Given the description of an element on the screen output the (x, y) to click on. 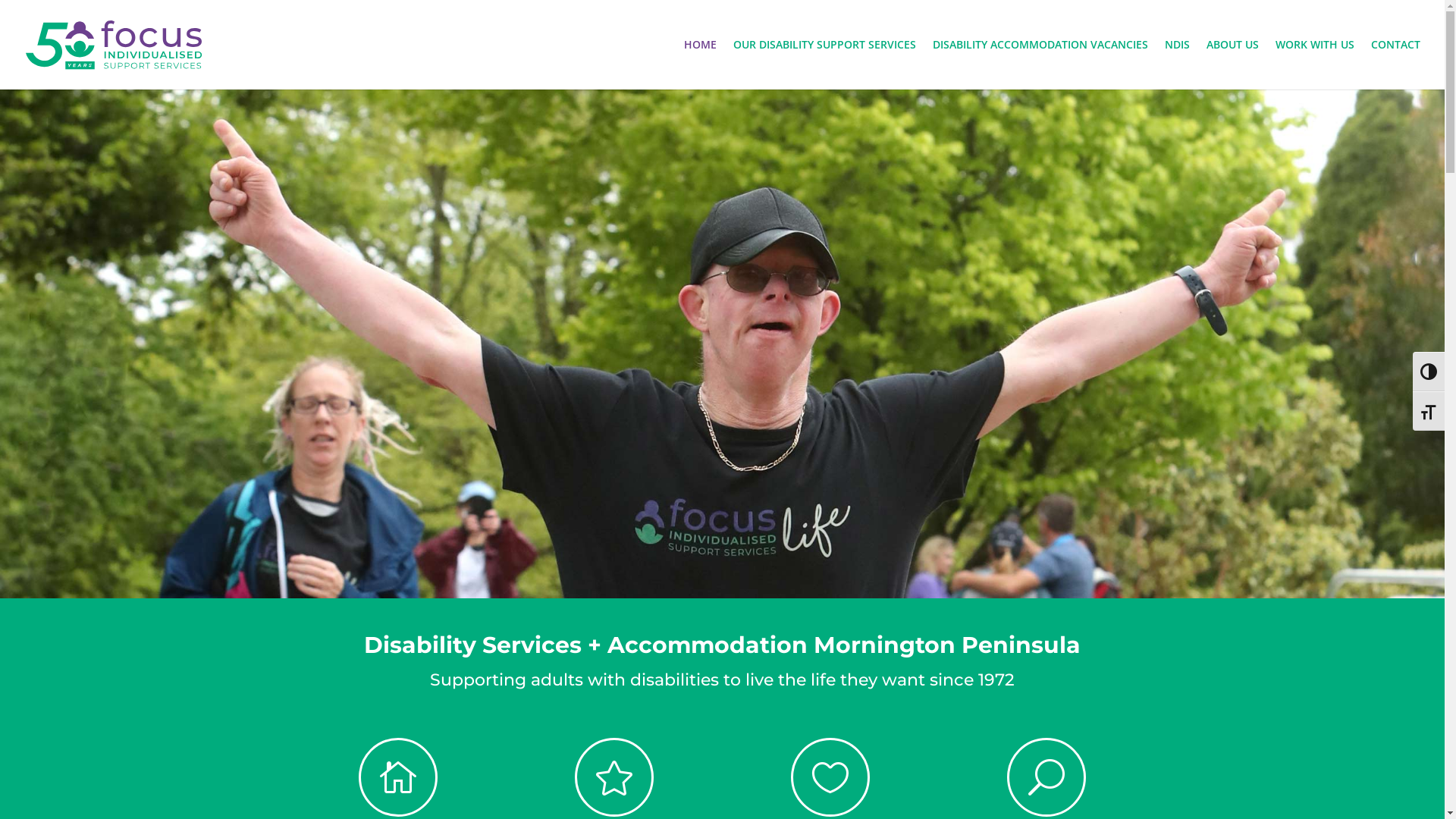
Toggle Font size Element type: text (1428, 410)
Home-page-Marcus-SArthurs-Seat-Challenge2 Element type: hover (722, 343)
U Element type: text (1046, 776)
HOME Element type: text (700, 64)
NDIS Element type: text (1176, 64)
DISABILITY ACCOMMODATION VACANCIES Element type: text (1040, 64)
Toggle High Contrast Element type: text (1428, 371)
CONTACT Element type: text (1395, 64)
OUR DISABILITY SUPPORT SERVICES Element type: text (824, 64)
ABOUT US Element type: text (1232, 64)
WORK WITH US Element type: text (1314, 64)
